Given the description of an element on the screen output the (x, y) to click on. 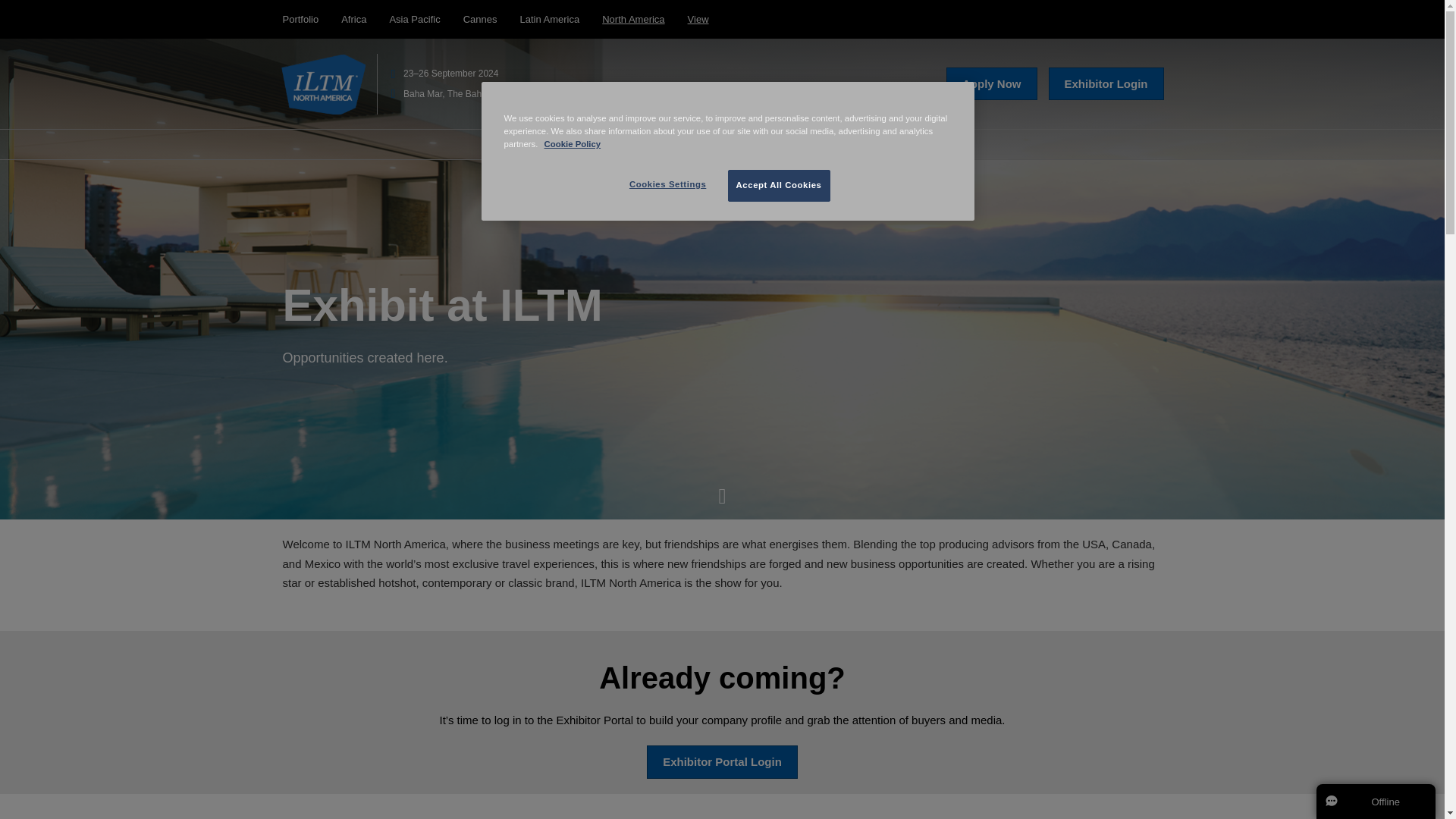
Asia Pacific (413, 19)
Exhibitor Login (1105, 83)
Help (903, 143)
About (542, 143)
Africa (353, 19)
Apply Now (991, 83)
Portfolio (300, 19)
Exhibitor Directory (719, 143)
What's on (805, 143)
Cannes (480, 19)
Latin America (549, 19)
Exhibitor Portal Login (721, 761)
Buyers (640, 143)
Media (861, 143)
North America (632, 19)
